Given the description of an element on the screen output the (x, y) to click on. 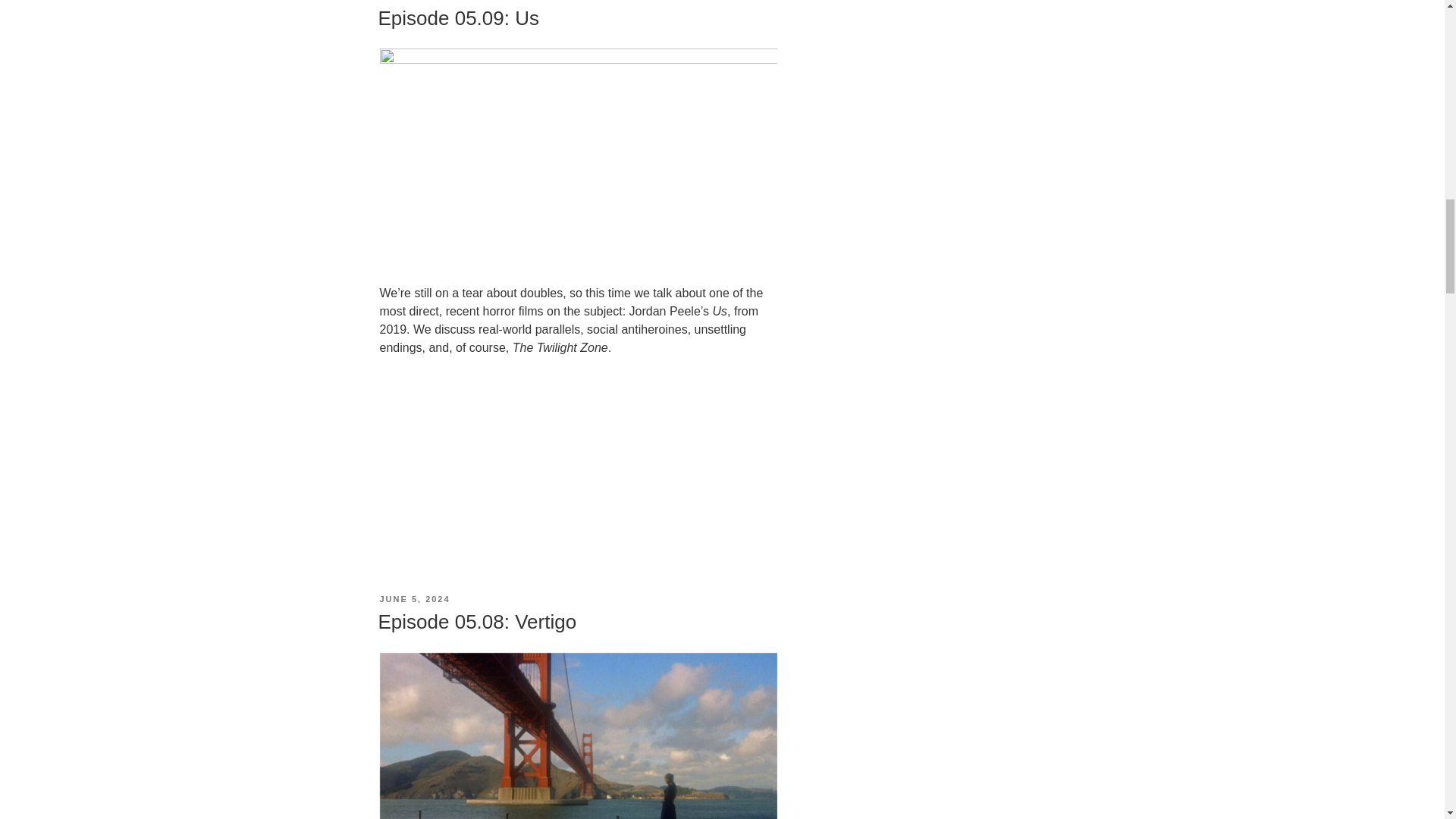
JUNE 5, 2024 (413, 598)
Episode 05.09: Us (457, 17)
Episode 05.08: Vertigo (476, 621)
Embed Player (577, 447)
